Given the description of an element on the screen output the (x, y) to click on. 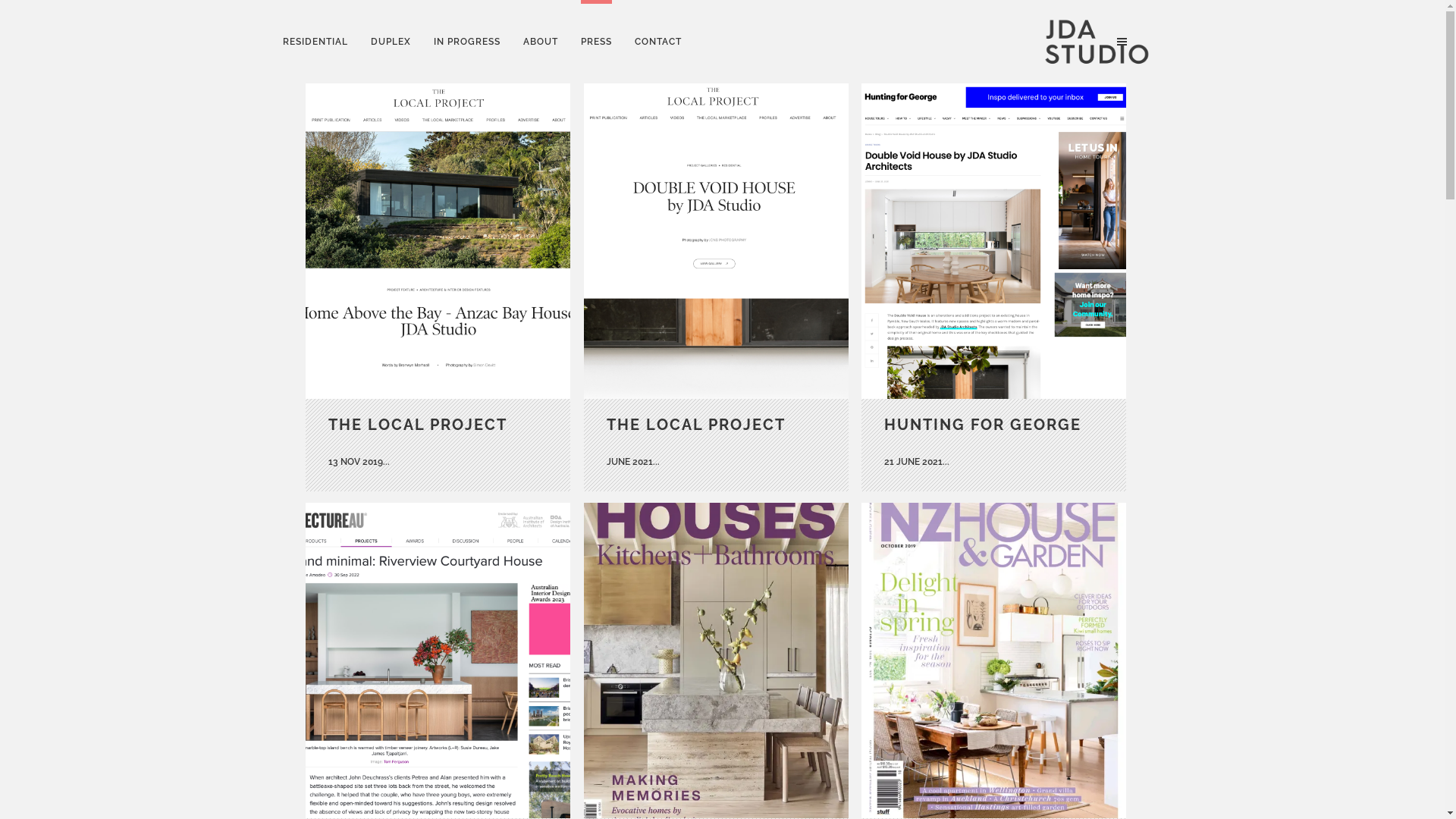
THE LOCAL PROJECT Element type: text (416, 424)
HUNTING FOR GEORGE Element type: text (982, 424)
DUPLEX Element type: text (390, 41)
HOUSE & GARDEN MAGAZINE Element type: hover (993, 660)
THE LOCAL PROJECT Element type: text (695, 424)
THE LOCAL PROJECT Element type: hover (437, 240)
CONTACT Element type: text (657, 41)
ABOUT Element type: text (540, 41)
  Element type: text (1123, 40)
IN PROGRESS Element type: text (466, 41)
HOUSES MAGAZINE KITCHENS & BATHROOMS Element type: hover (716, 660)
RESIDENTIAL Element type: text (315, 41)
HUNTING FOR GEORGE Element type: hover (993, 240)
THE LOCAL PROJECT Element type: hover (716, 240)
PRESS Element type: text (595, 41)
ARCHITECTURE AU Element type: hover (437, 660)
